Given the description of an element on the screen output the (x, y) to click on. 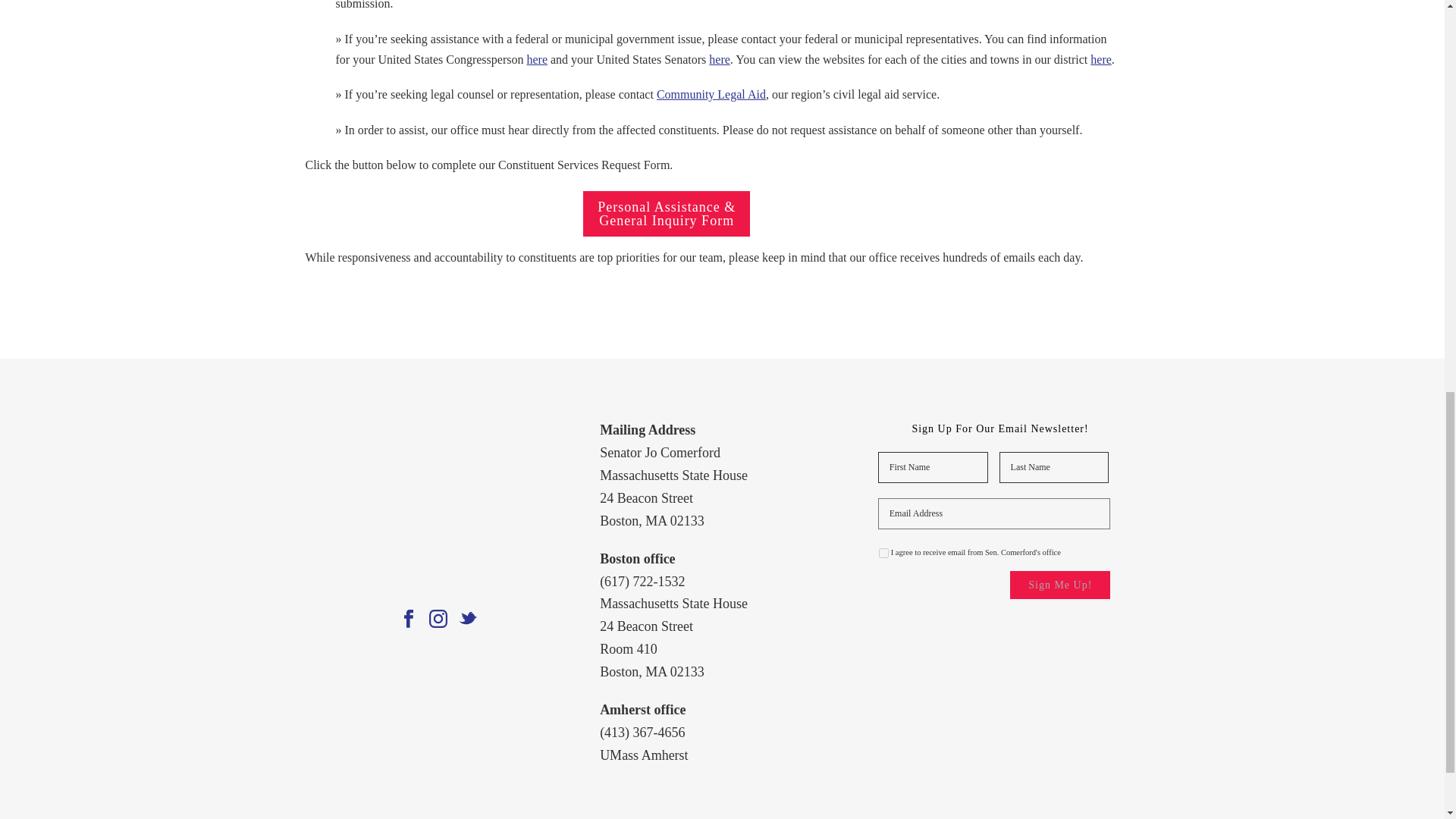
Follow Jo on instagram (437, 619)
I agree to receive email from Sen. Comerford's office (883, 552)
Follow Jo on facebook (407, 619)
Follow Jo on twitter (467, 619)
Sign Me Up! (1059, 584)
